Given the description of an element on the screen output the (x, y) to click on. 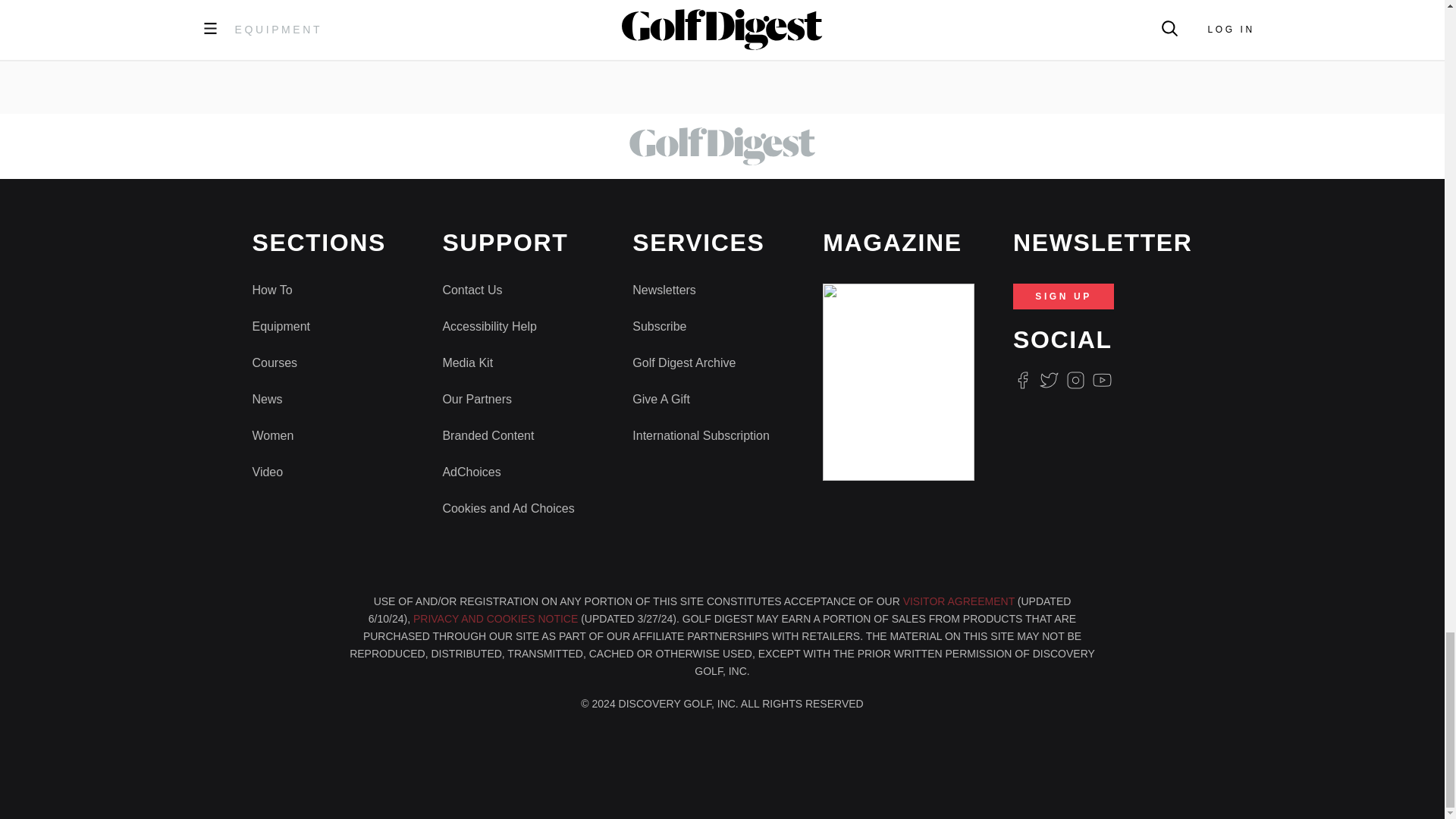
Instagram Logo (1074, 380)
Youtube Icon (1102, 380)
Facebook Logo (1022, 380)
Twitter Logo (1048, 380)
